Given the description of an element on the screen output the (x, y) to click on. 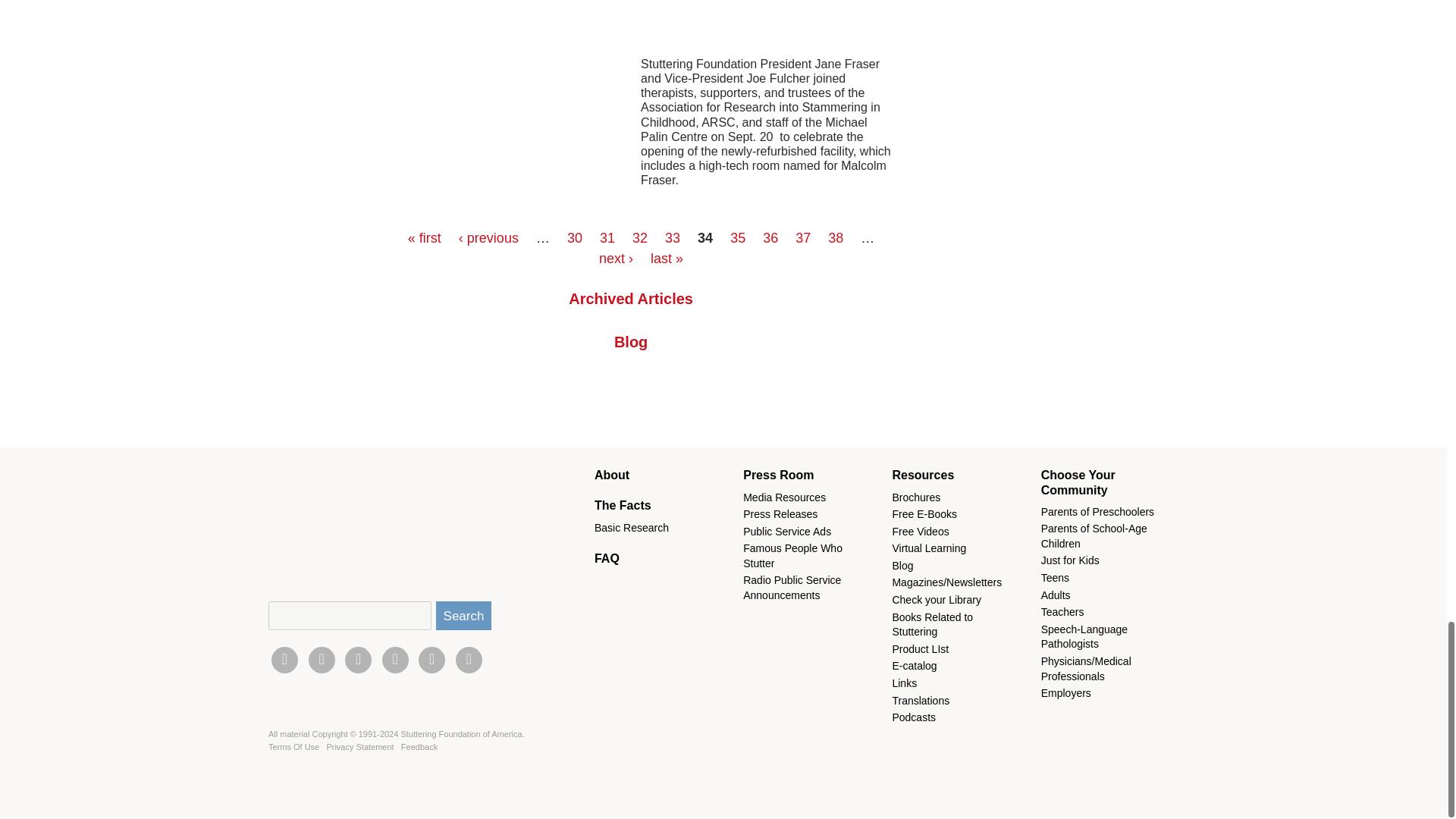
Search (463, 615)
Go to previous page (488, 237)
Go to first page (424, 237)
